Given the description of an element on the screen output the (x, y) to click on. 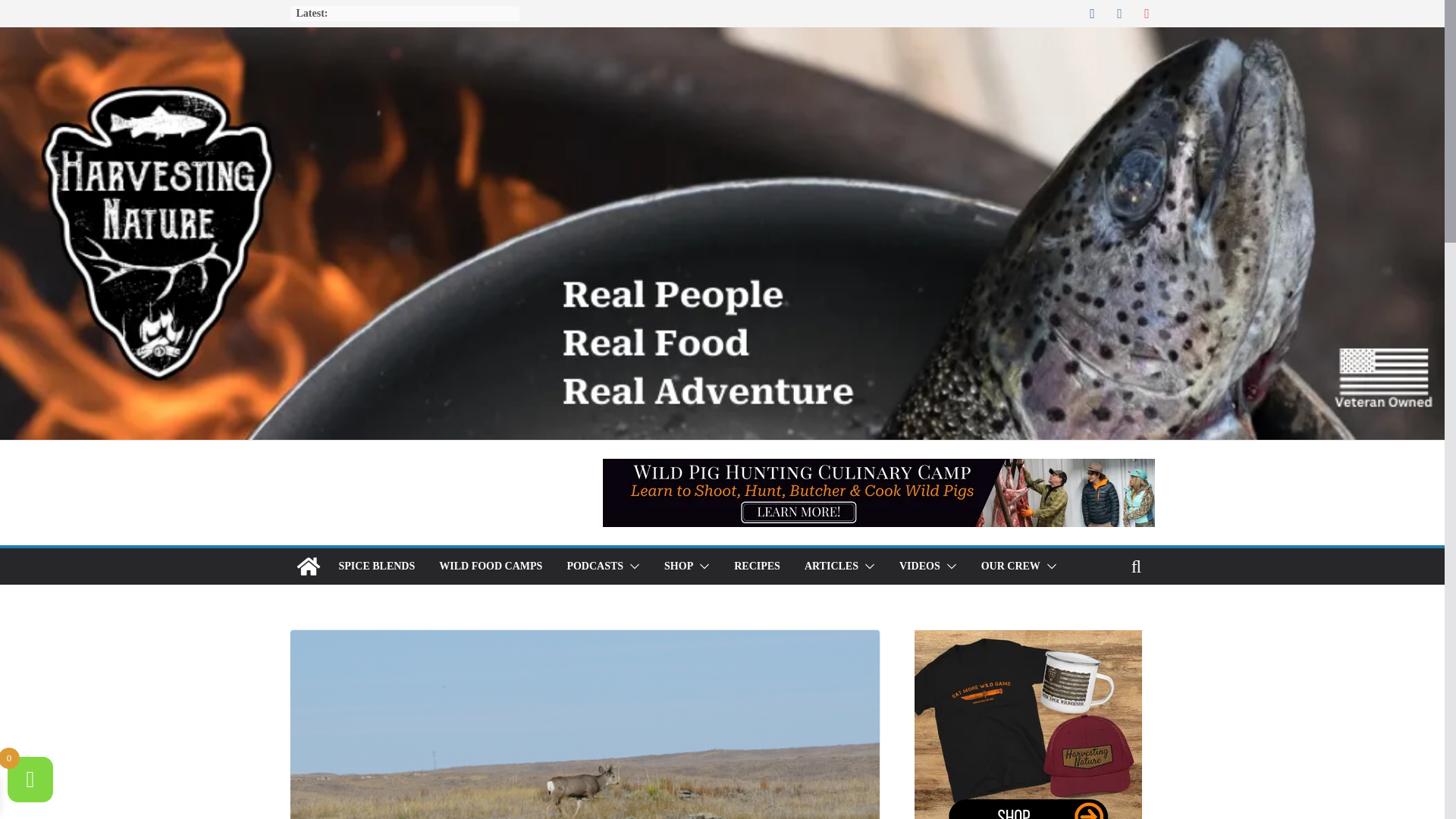
ARTICLES (832, 566)
SHOP (678, 566)
Harvesting Nature (307, 565)
RECIPES (756, 566)
WILD FOOD CAMPS (490, 566)
SPICE BLENDS (375, 566)
PODCASTS (594, 566)
VIDEOS (919, 566)
OUR CREW (1011, 566)
